Given the description of an element on the screen output the (x, y) to click on. 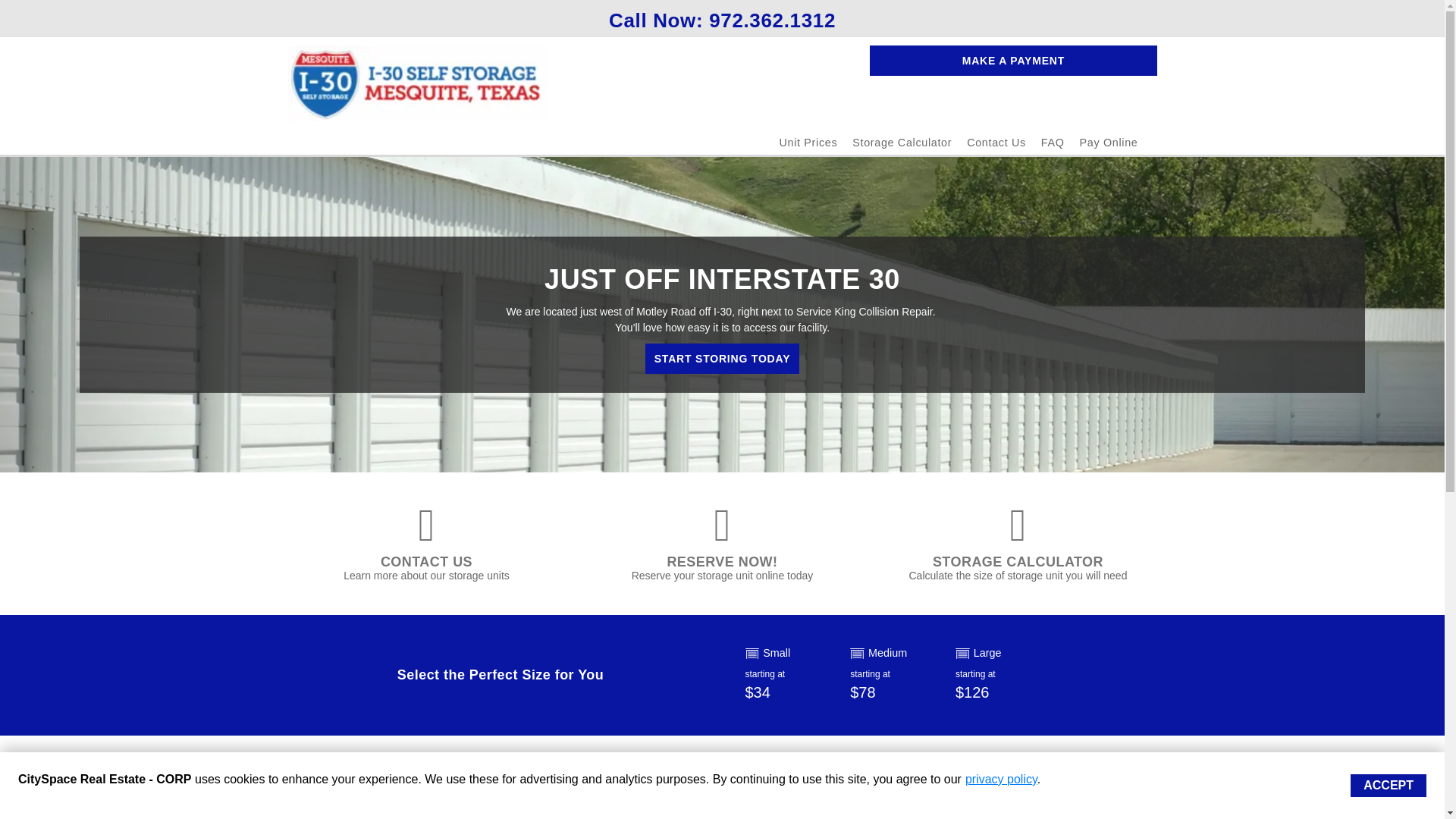
Pay Online (1109, 142)
Storage Calculator (901, 142)
RESERVE NOW! (721, 561)
privacy policy (1000, 779)
CONTACT US (425, 561)
MAKE A PAYMENT (1012, 60)
START STORING TODAY (722, 358)
Contact Us (996, 142)
Unit Prices (808, 142)
FAQ (1052, 142)
